Given the description of an element on the screen output the (x, y) to click on. 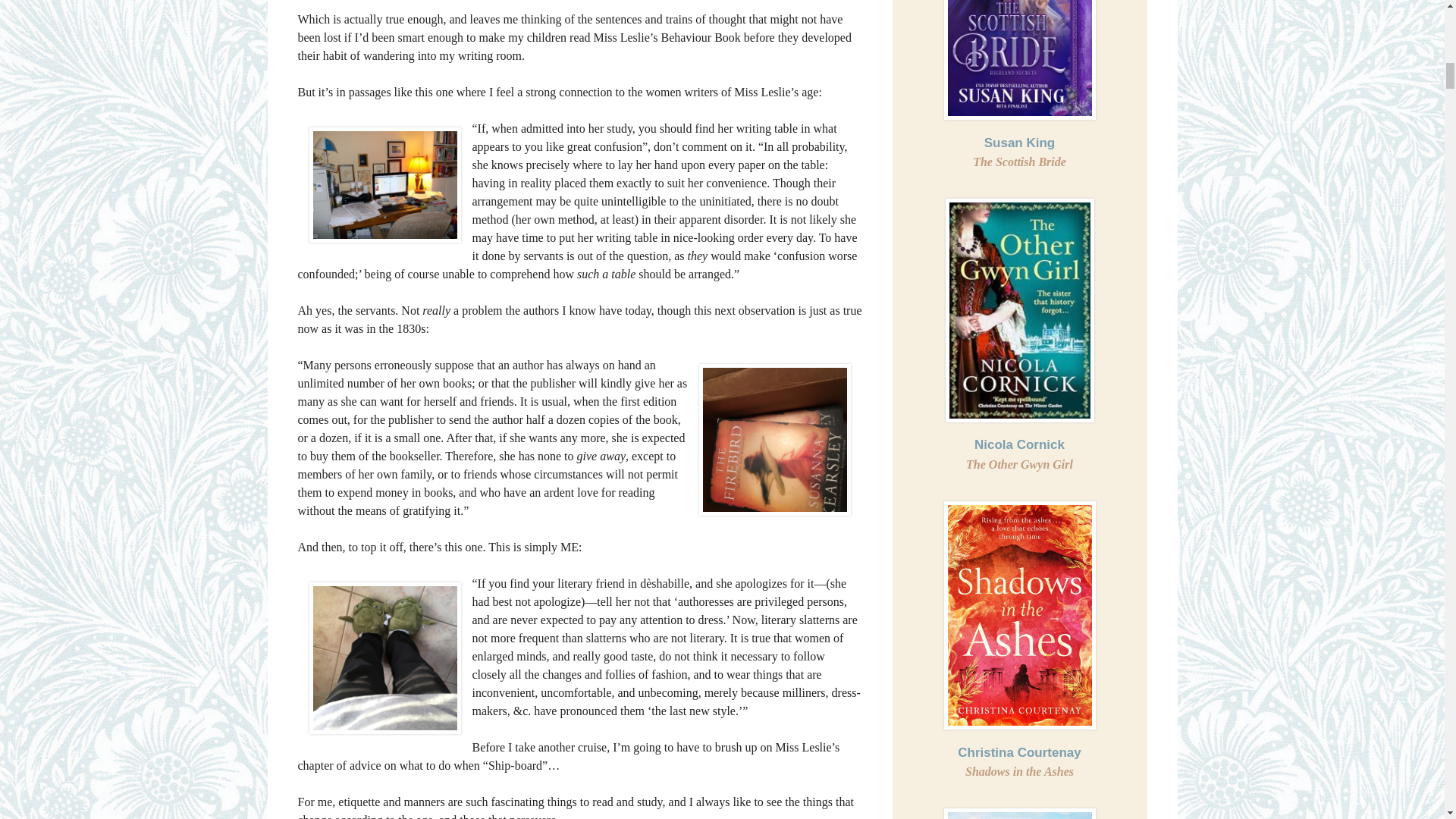
Author copies (774, 439)
Author clothes (384, 657)
DSCN0002 (384, 185)
